Given the description of an element on the screen output the (x, y) to click on. 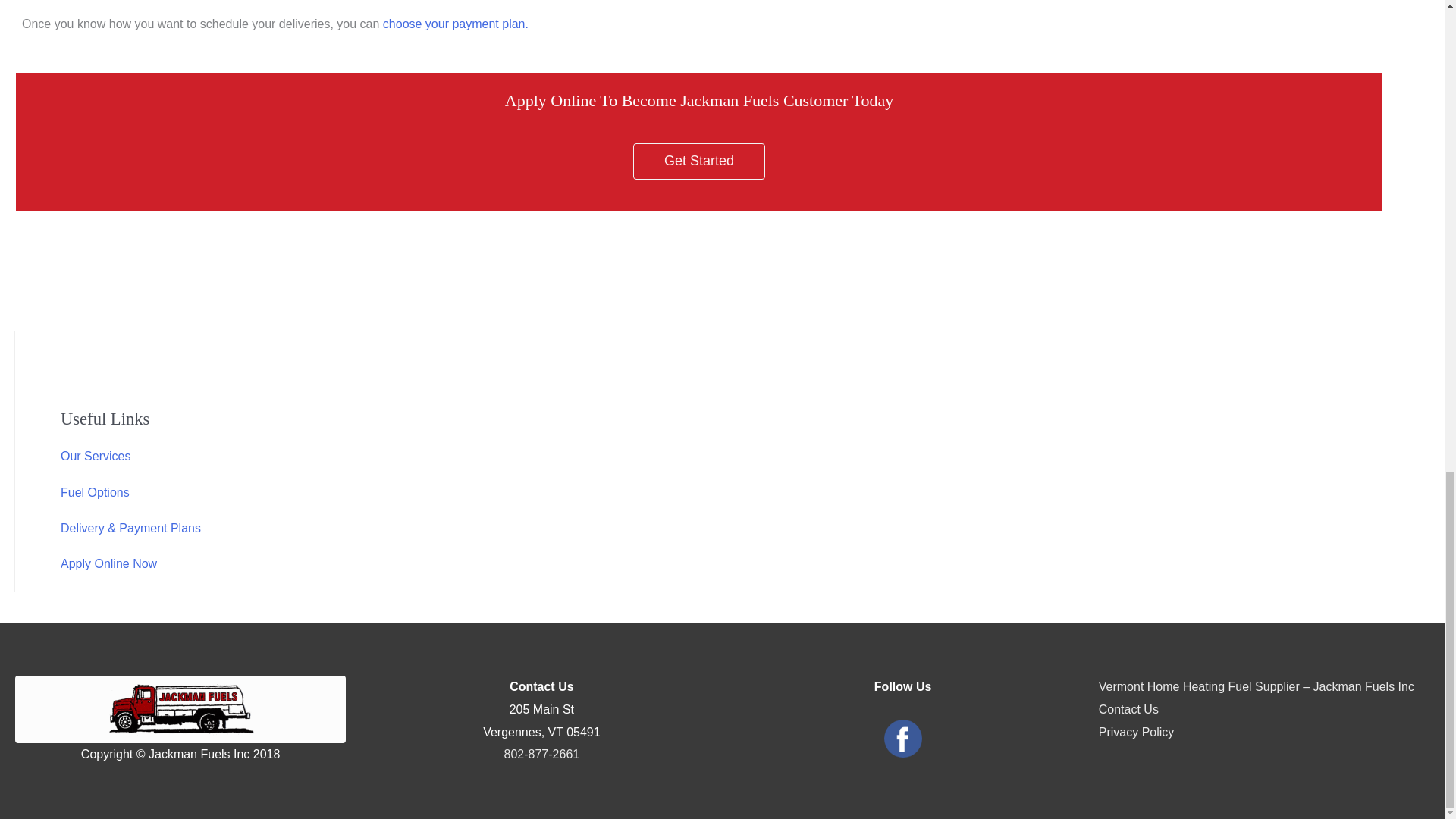
choose your payment plan. (455, 23)
Get Started (699, 161)
Contact Us (1128, 708)
Privacy Policy (1136, 731)
Our Services (96, 455)
802-877-2661 (541, 753)
Fuel Options (95, 492)
Apply Online Now (109, 563)
